Given the description of an element on the screen output the (x, y) to click on. 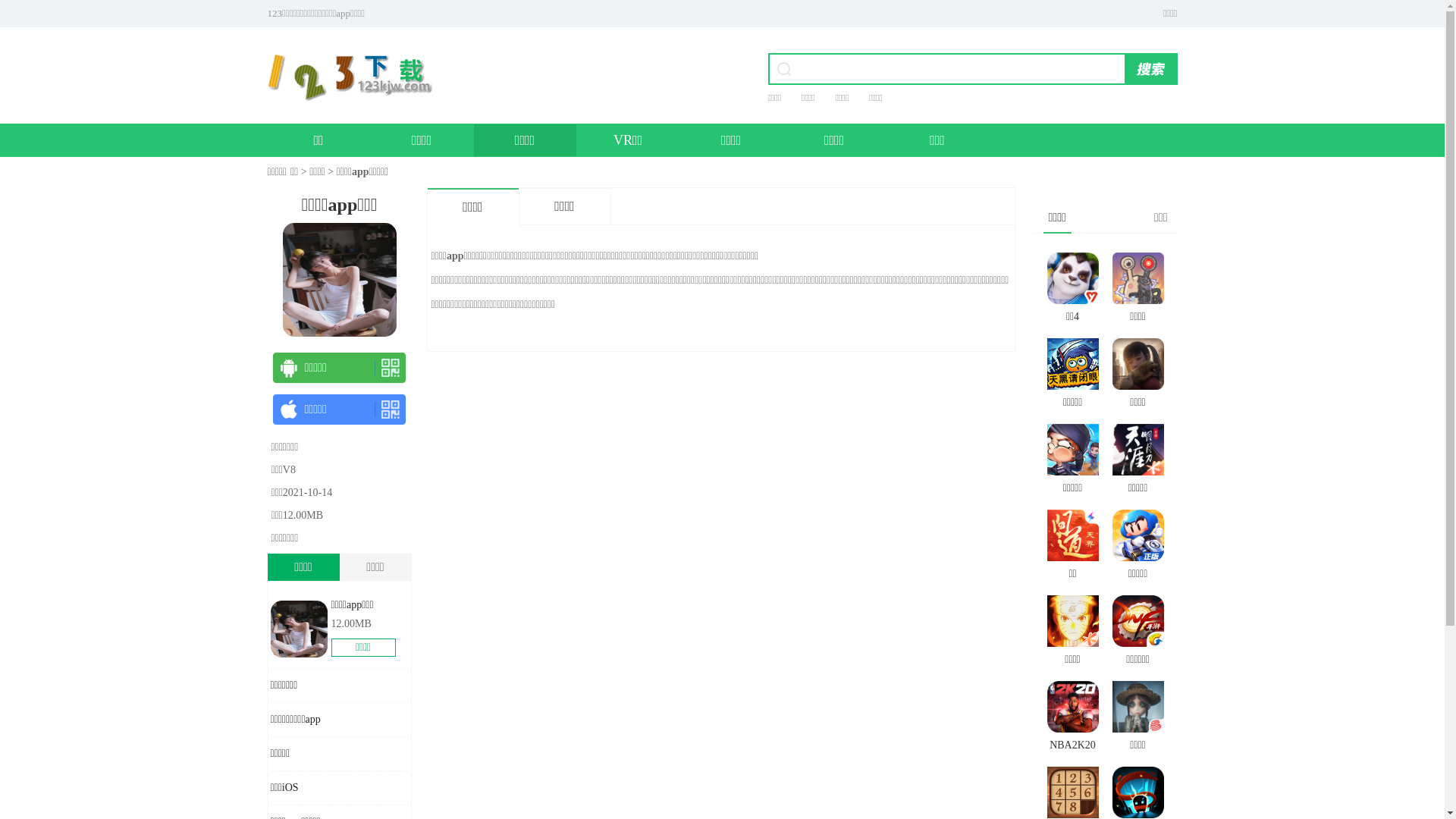
NBA2K20 Element type: text (1072, 717)
